Given the description of an element on the screen output the (x, y) to click on. 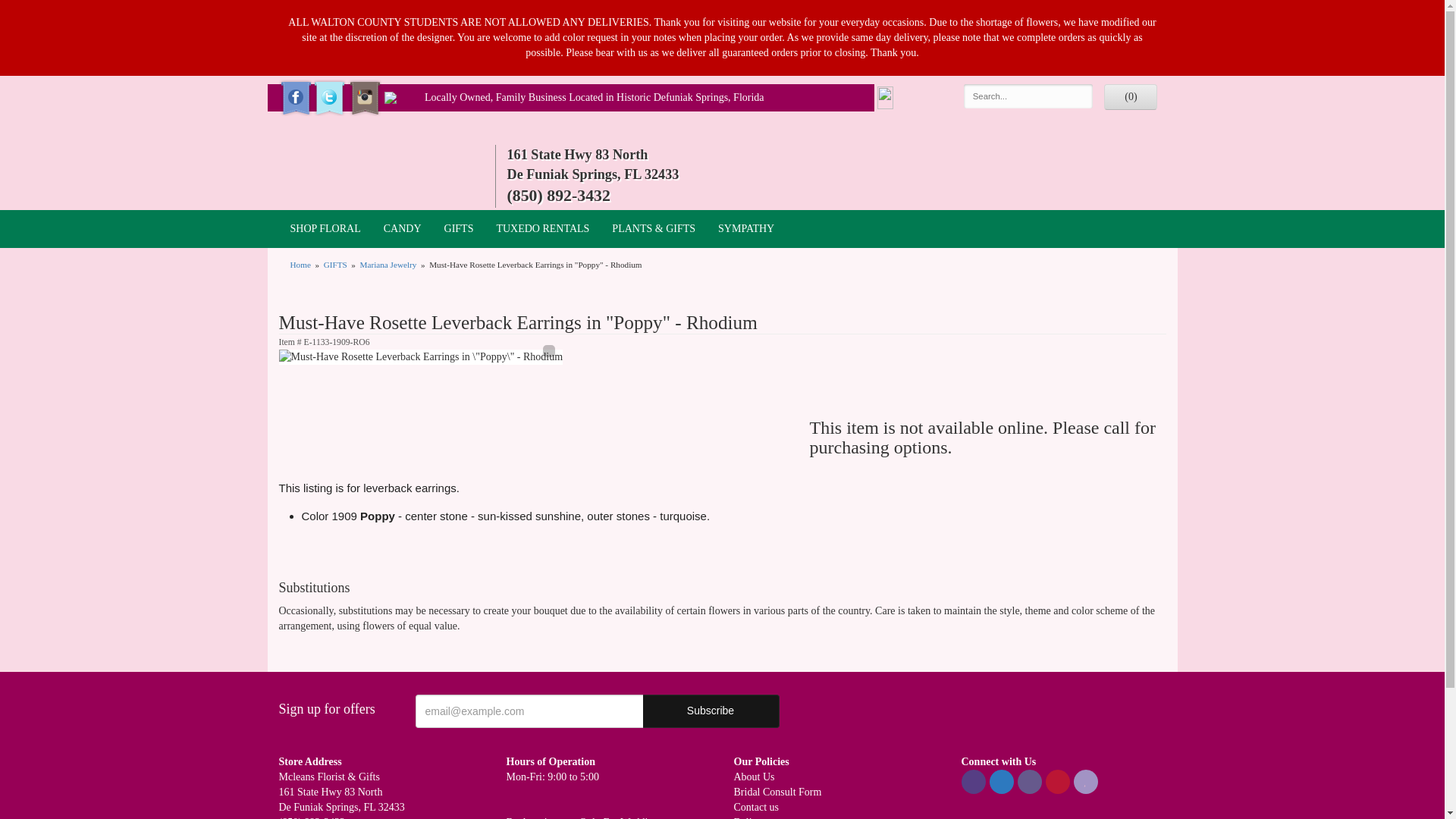
TUXEDO RENTALS (541, 228)
SYMPATHY (746, 228)
CANDY (402, 228)
GIFTS (458, 228)
SHOP FLORAL (325, 228)
Subscribe (710, 711)
